Given the description of an element on the screen output the (x, y) to click on. 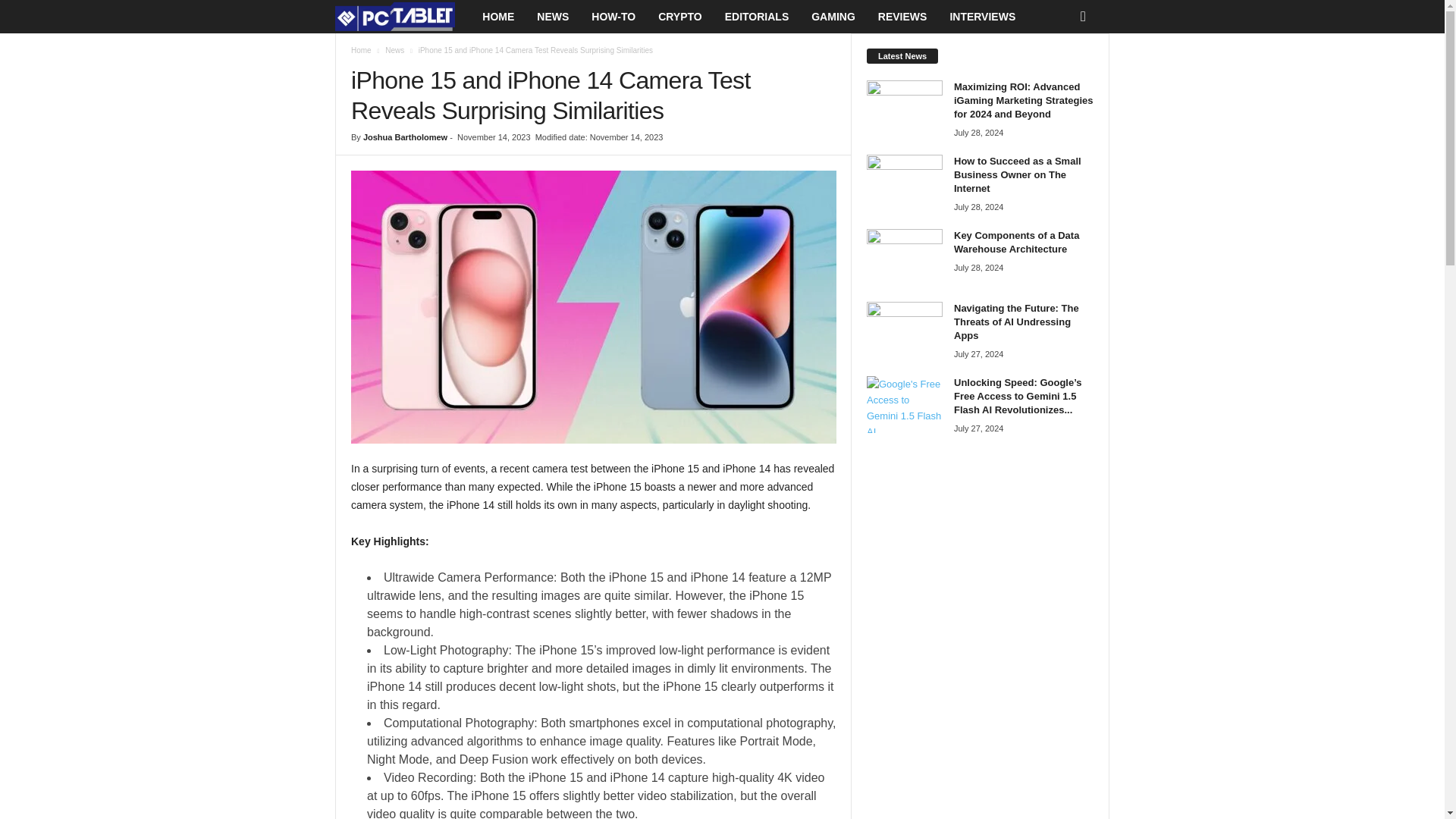
CRYPTO (679, 16)
EDITORIALS (756, 16)
GAMING (832, 16)
Home (360, 49)
NEWS (552, 16)
News (394, 49)
HOME (497, 16)
HOW-TO (612, 16)
PC-Tablet.com (402, 17)
INTERVIEWS (981, 16)
Joshua Bartholomew (404, 136)
View all posts in News (394, 49)
REVIEWS (902, 16)
iphone-15-vs-14-lead-cnnu (592, 306)
